Given the description of an element on the screen output the (x, y) to click on. 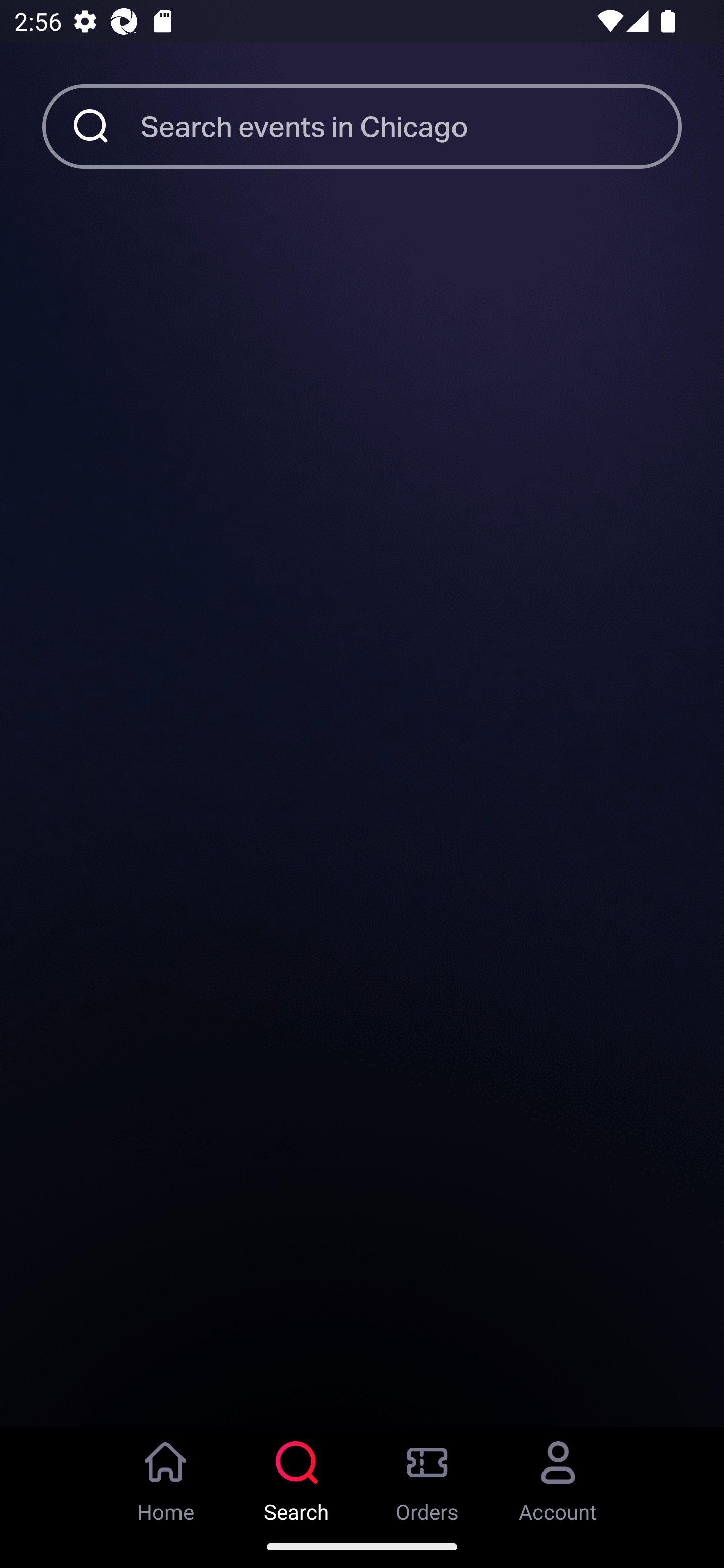
Search events in Chicago (411, 126)
Home (165, 1475)
Orders (427, 1475)
Account (558, 1475)
